Given the description of an element on the screen output the (x, y) to click on. 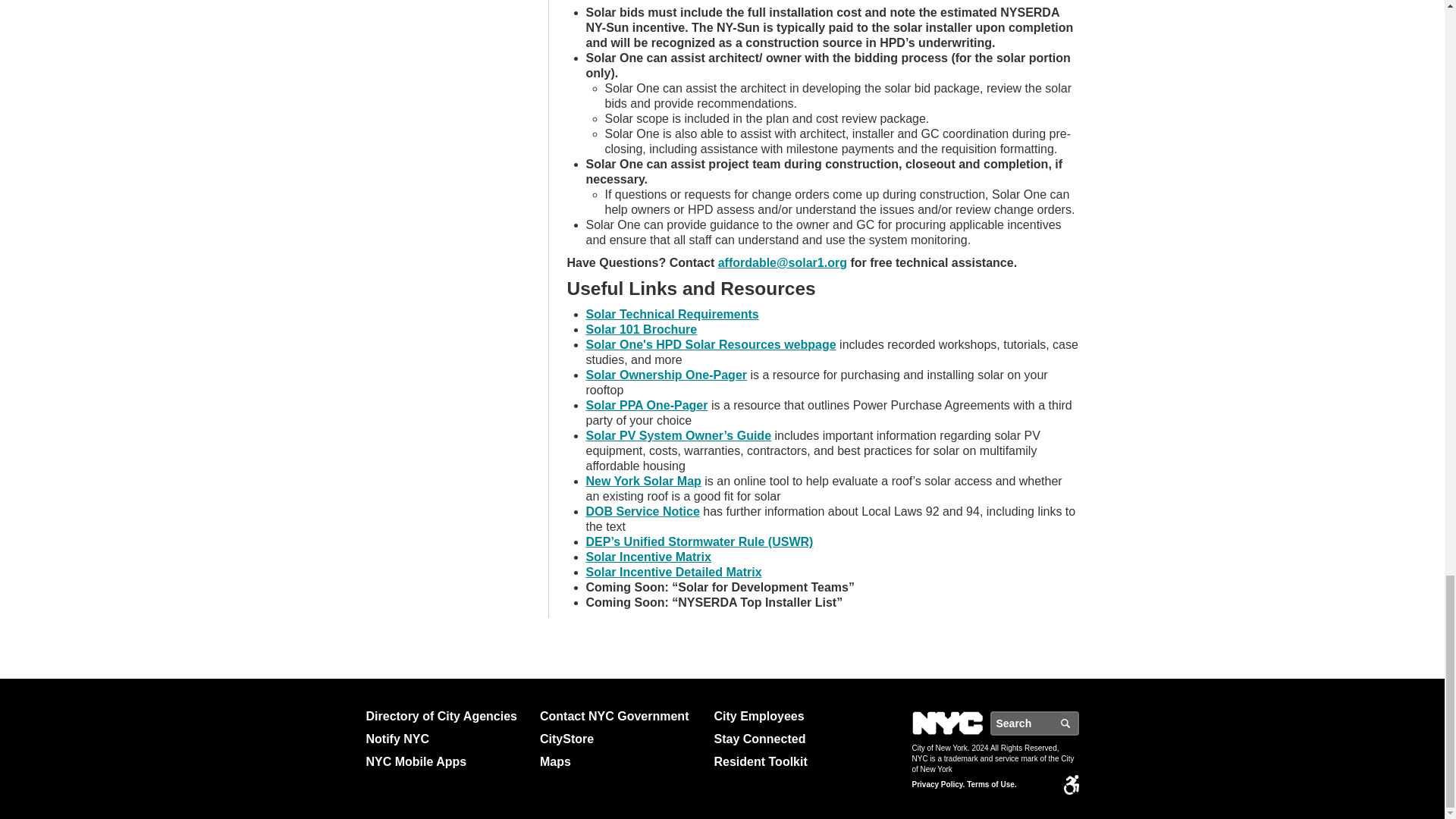
Terms of Use (991, 784)
Solar PPA One-Pager (646, 404)
Solar 101 Brochure (641, 328)
Solar One's HPD Solar Resources webpage (710, 344)
Privacy Ploicy  (937, 784)
Solar Ownership One-Pager (665, 374)
Solar Technical Requirements (671, 314)
